Given the description of an element on the screen output the (x, y) to click on. 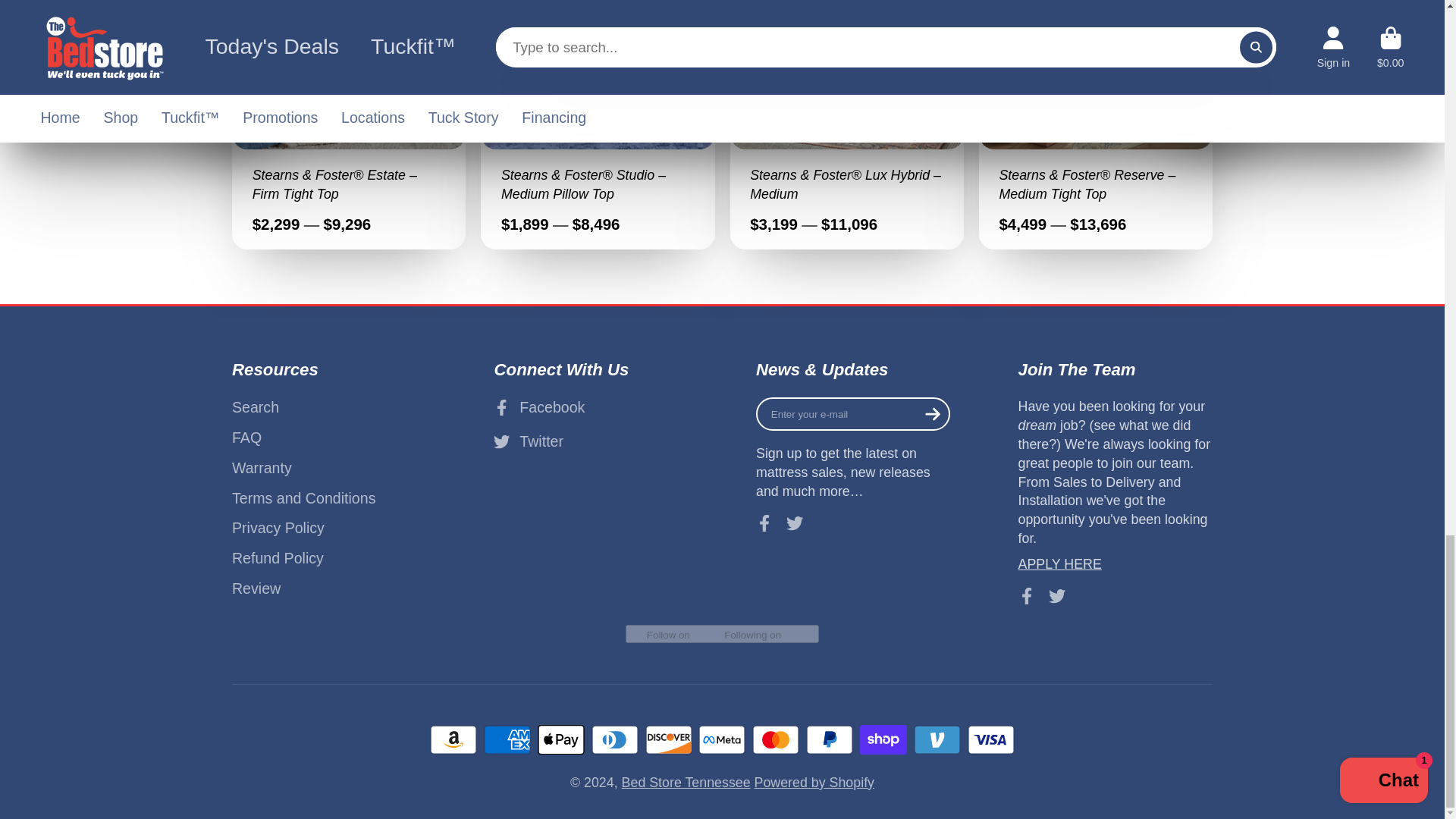
Terms and Conditions (328, 498)
Careers (1059, 563)
Search (328, 407)
FAQ (328, 437)
Review (328, 588)
Refund Policy (328, 557)
Facebook (590, 407)
Warranty (328, 467)
Privacy Policy (328, 527)
